Given the description of an element on the screen output the (x, y) to click on. 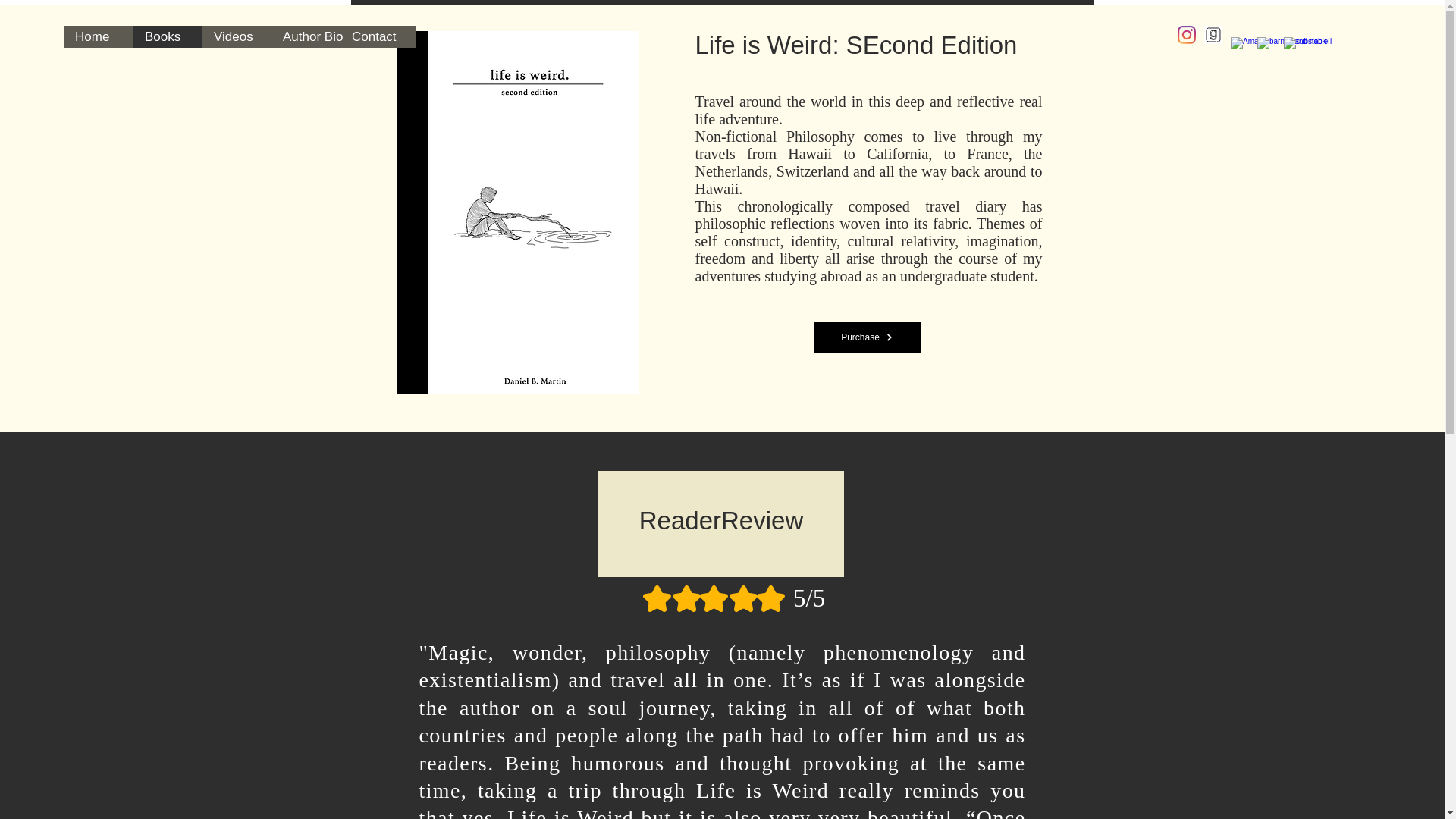
Contact (374, 36)
Purchase (866, 337)
Home (98, 36)
Author Bio (304, 36)
Books (167, 36)
Videos (236, 36)
